Given the description of an element on the screen output the (x, y) to click on. 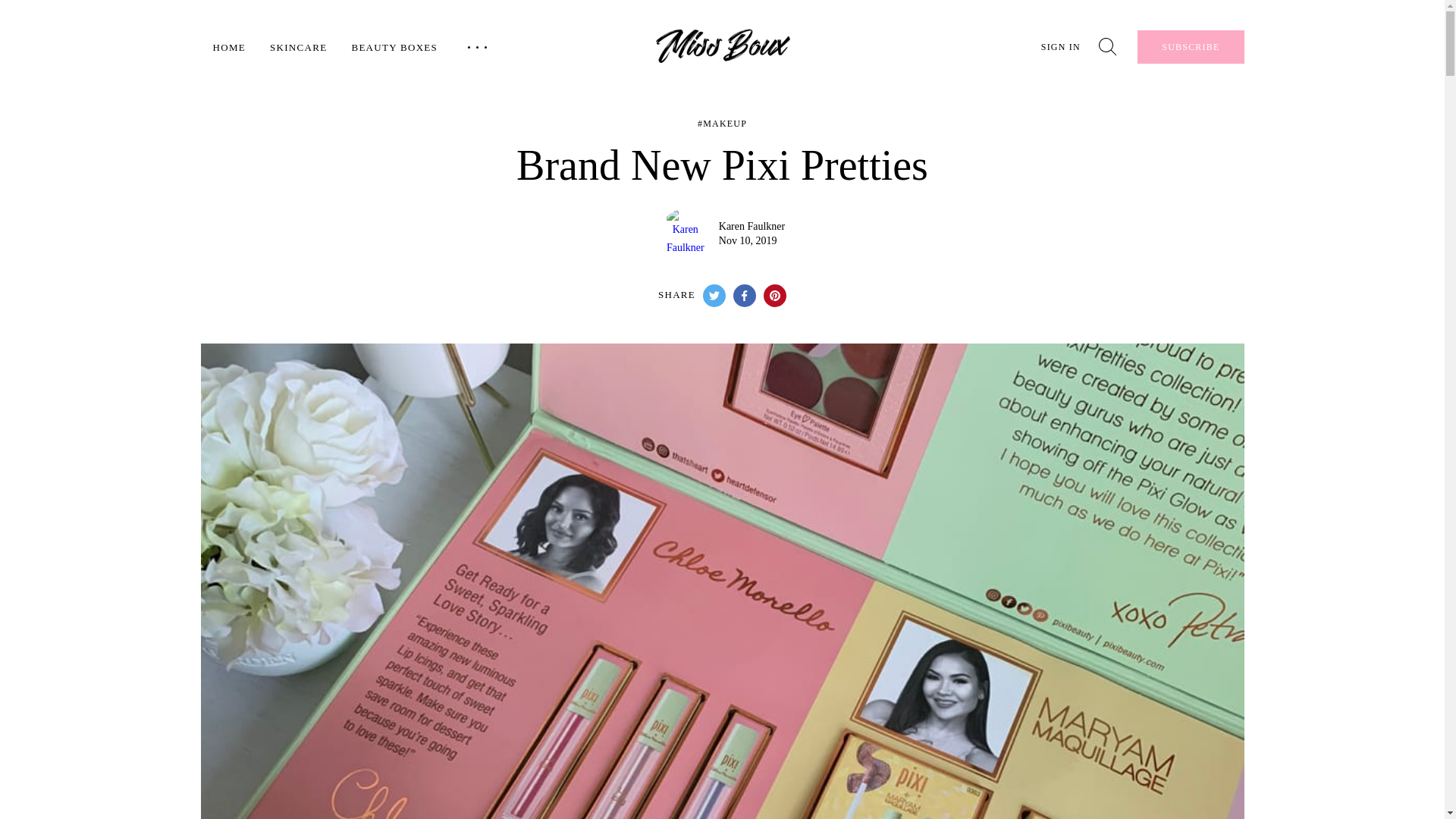
SKINCARE (297, 47)
SUBSCRIBE (1190, 46)
TWITTER (714, 295)
BEAUTY BOXES (394, 47)
Karen Faulkner (751, 225)
PINTEREST (774, 295)
MAKEUP (721, 122)
Share on Twitter (714, 295)
HOME (228, 47)
Share on Pinterest (774, 295)
